Given the description of an element on the screen output the (x, y) to click on. 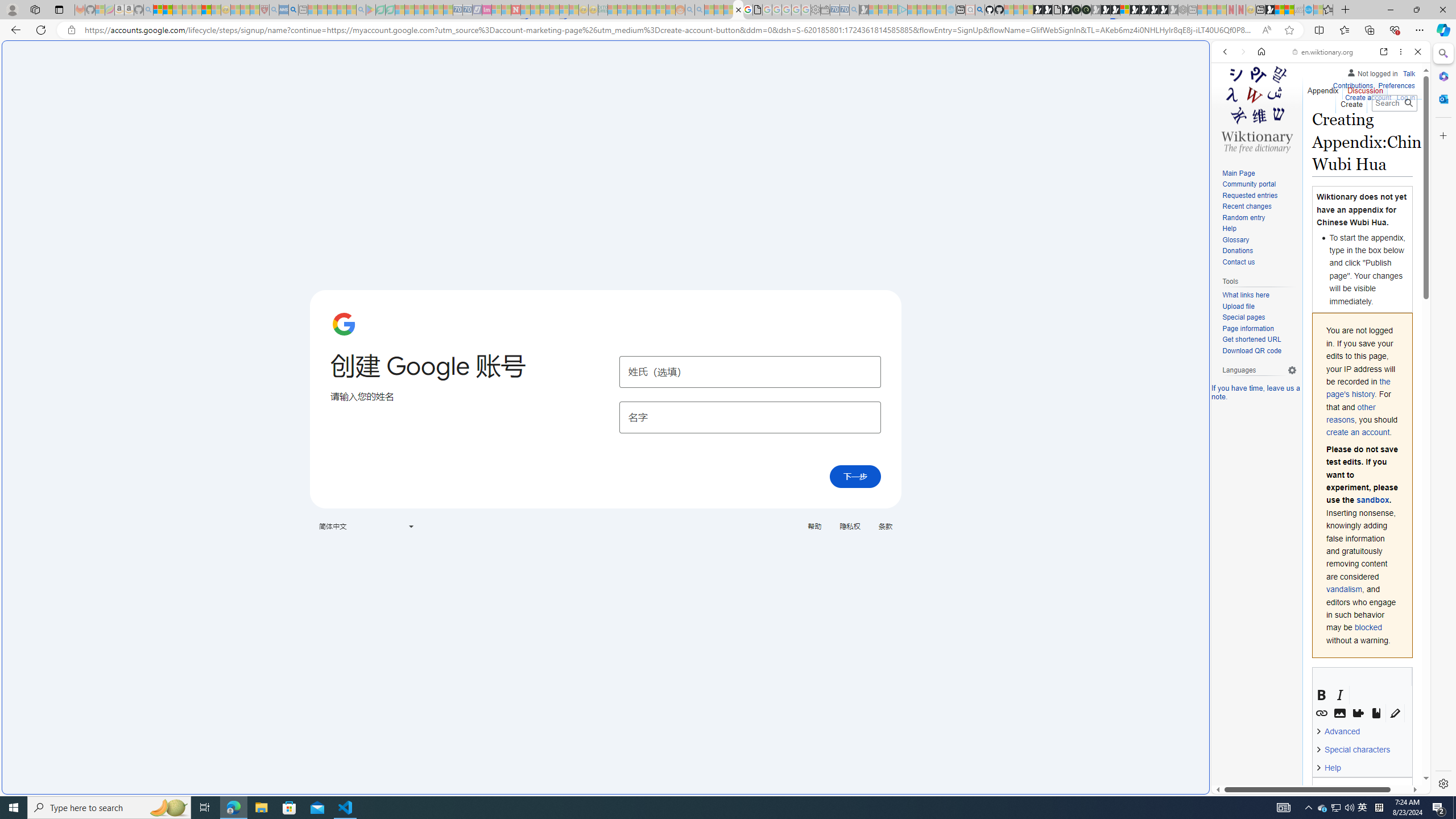
Log in (1405, 96)
Recent changes (1246, 206)
Random entry (1243, 216)
blocked (1368, 627)
